Given the description of an element on the screen output the (x, y) to click on. 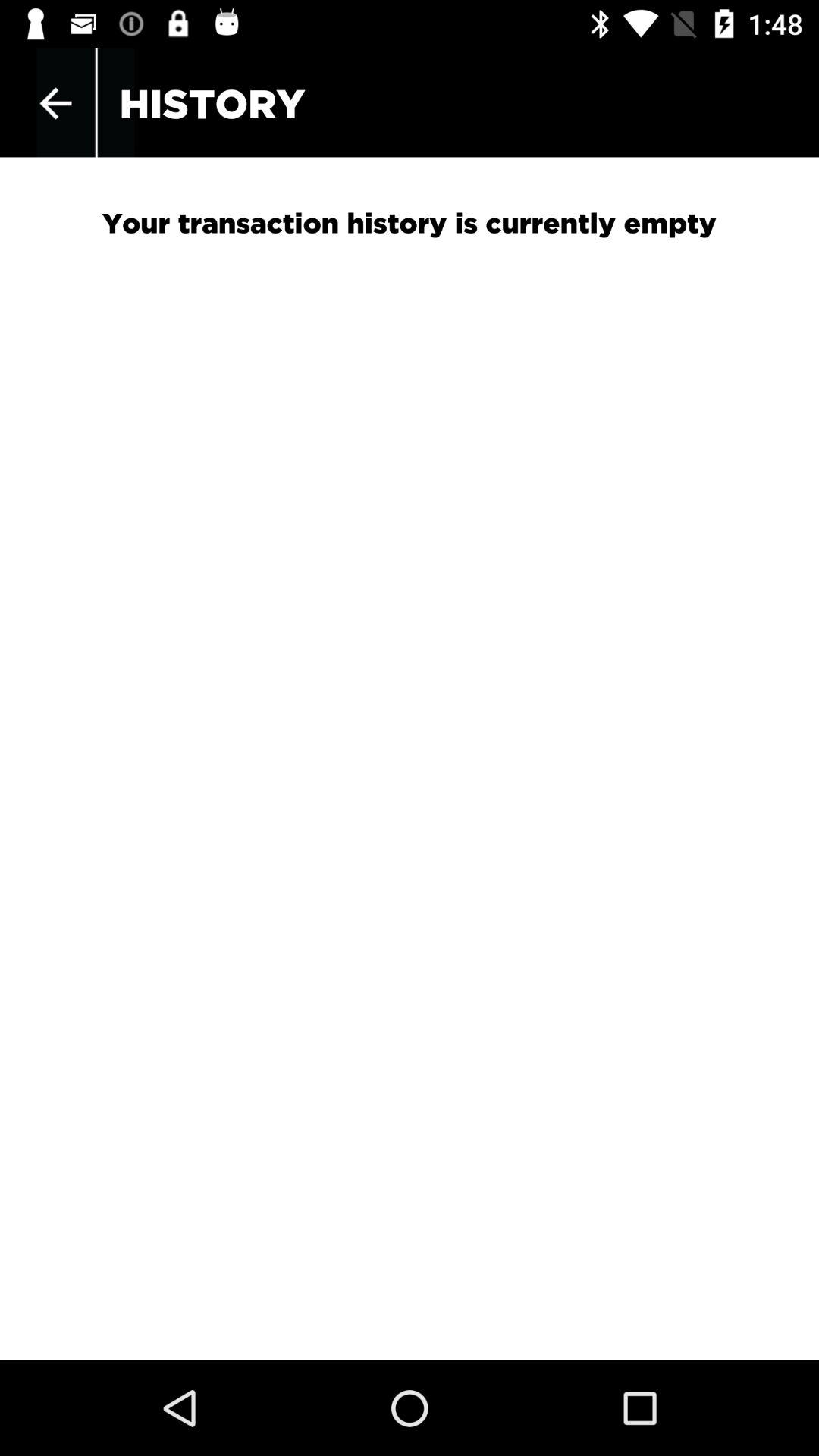
press item to the left of the history (55, 103)
